Given the description of an element on the screen output the (x, y) to click on. 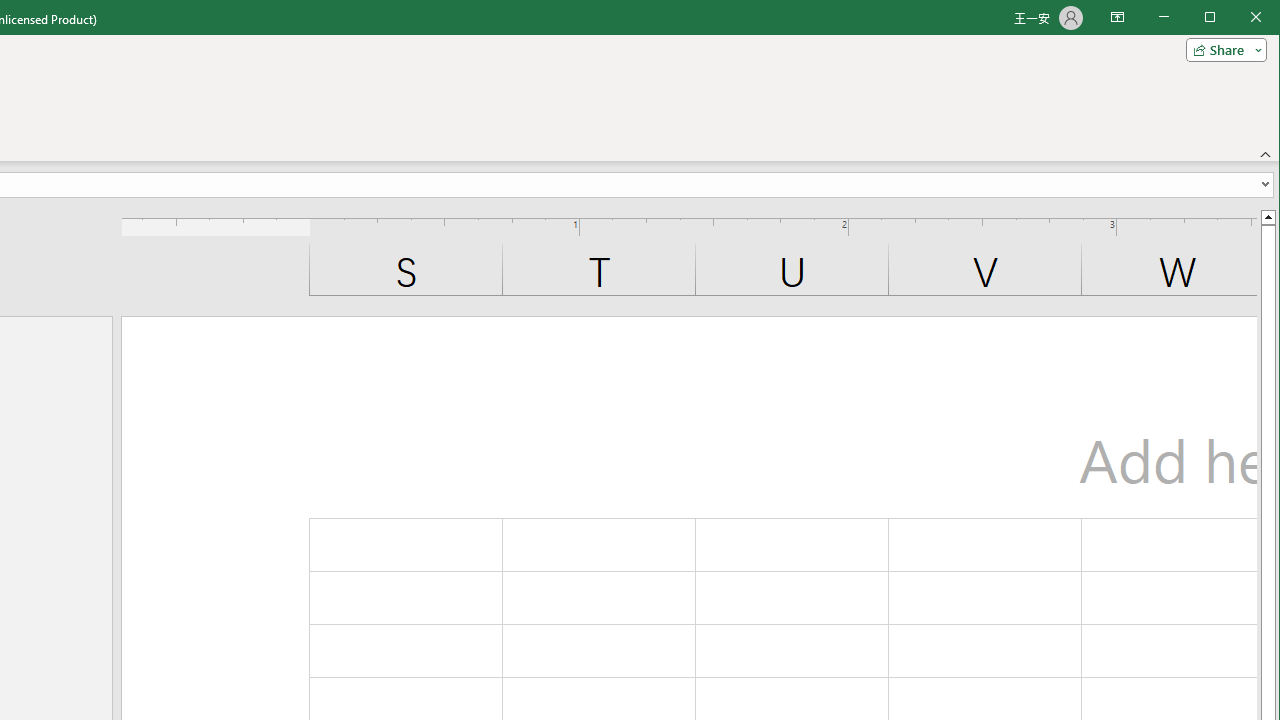
Maximize (1238, 18)
